Given the description of an element on the screen output the (x, y) to click on. 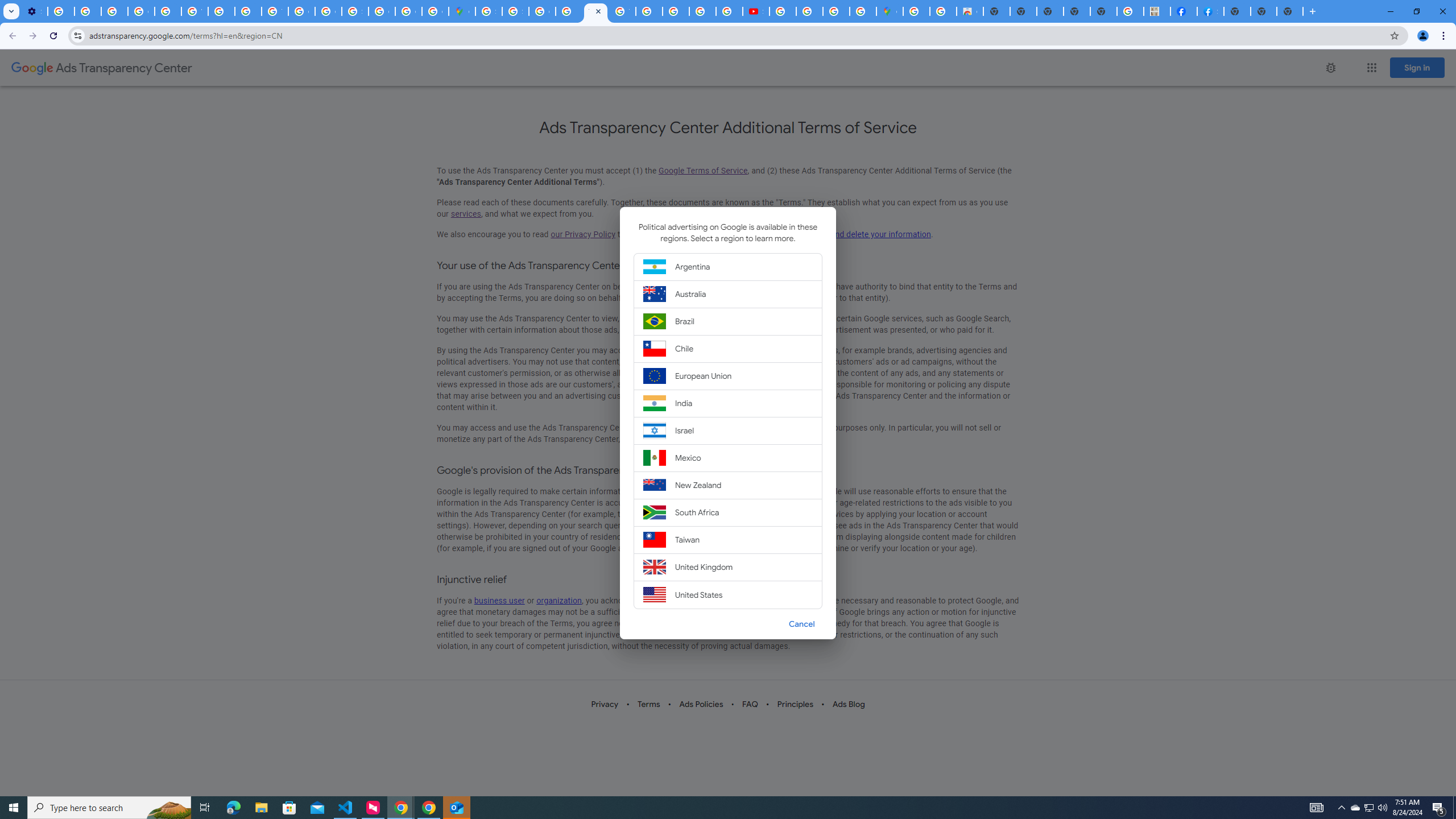
Privacy Help Center - Policies Help (248, 11)
Learn how to find your photos - Google Photos Help (87, 11)
Chrome Web Store - Shopping (970, 11)
Privacy Help Center - Policies Help (676, 11)
Ads Blog (847, 703)
To get missing image descriptions, open the context menu. (1330, 67)
Brazil (727, 321)
